Given the description of an element on the screen output the (x, y) to click on. 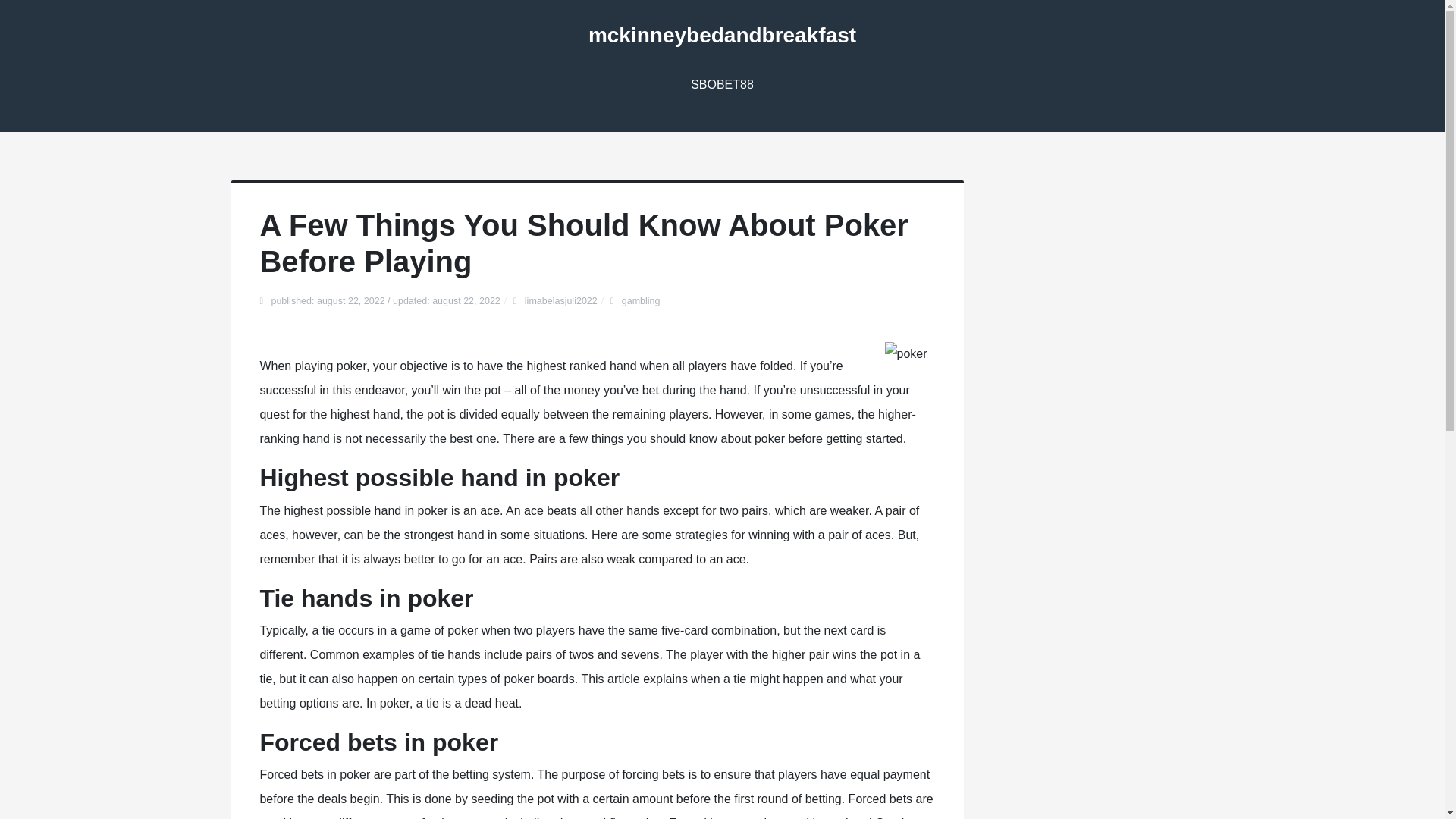
gambling (641, 300)
limabelasjuli2022 (560, 300)
SBOBET88 (722, 84)
mckinneybedandbreakfast (722, 34)
SBOBET88 (722, 84)
